Given the description of an element on the screen output the (x, y) to click on. 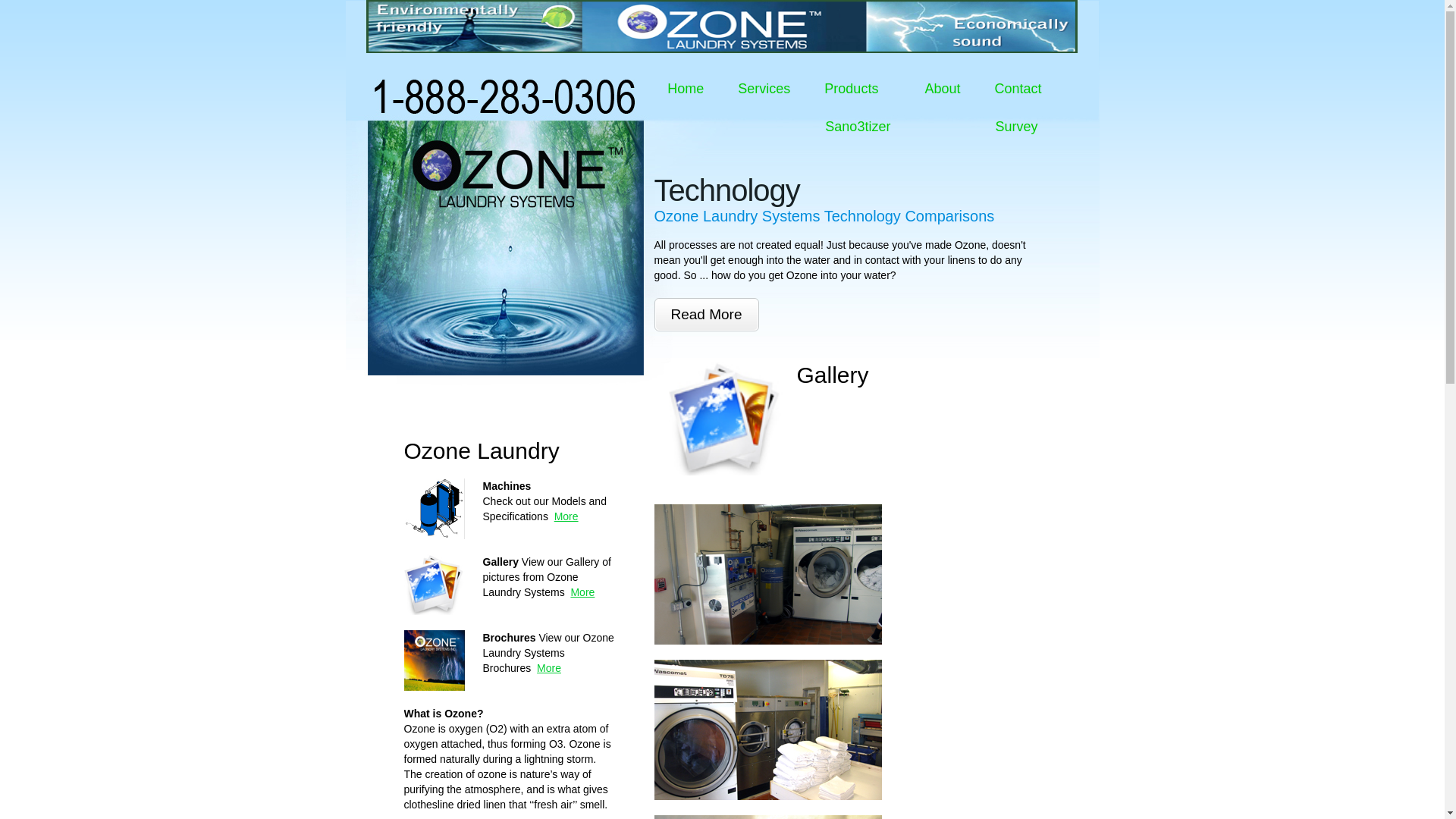
Products (857, 88)
Services (763, 88)
Home (685, 88)
Contact (1017, 88)
More (548, 667)
More (566, 516)
Sano3tizer (857, 126)
Survey (1016, 126)
Read More (705, 314)
More (582, 592)
About (941, 88)
